Given the description of an element on the screen output the (x, y) to click on. 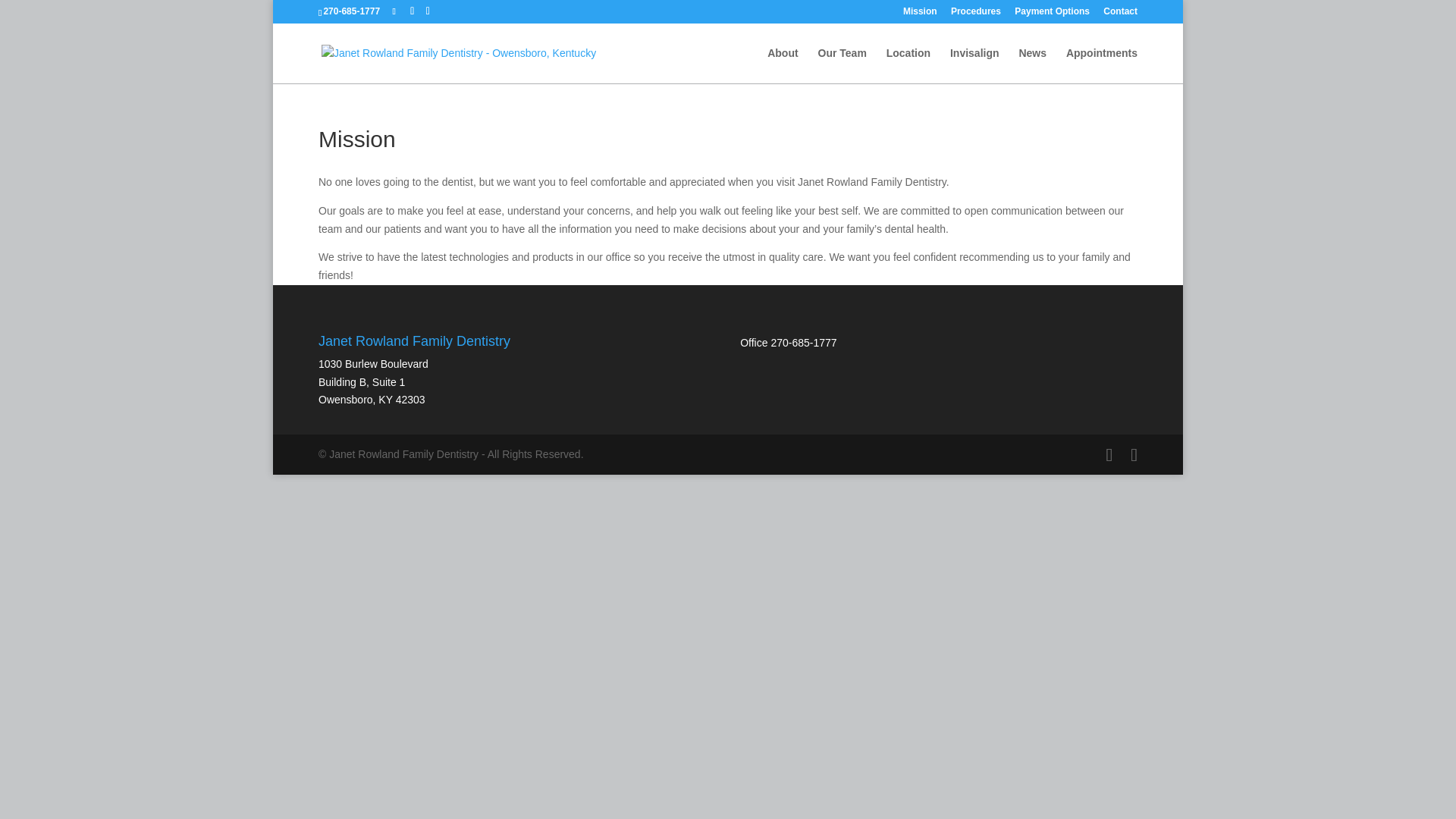
Our Team (842, 65)
Location (908, 65)
Mission (919, 14)
270-685-1777 (354, 10)
Payment Options (1051, 14)
Invisalign (974, 65)
270-685-1777 (802, 342)
Contact (1120, 14)
Procedures (975, 14)
Appointments (1101, 65)
